Given the description of an element on the screen output the (x, y) to click on. 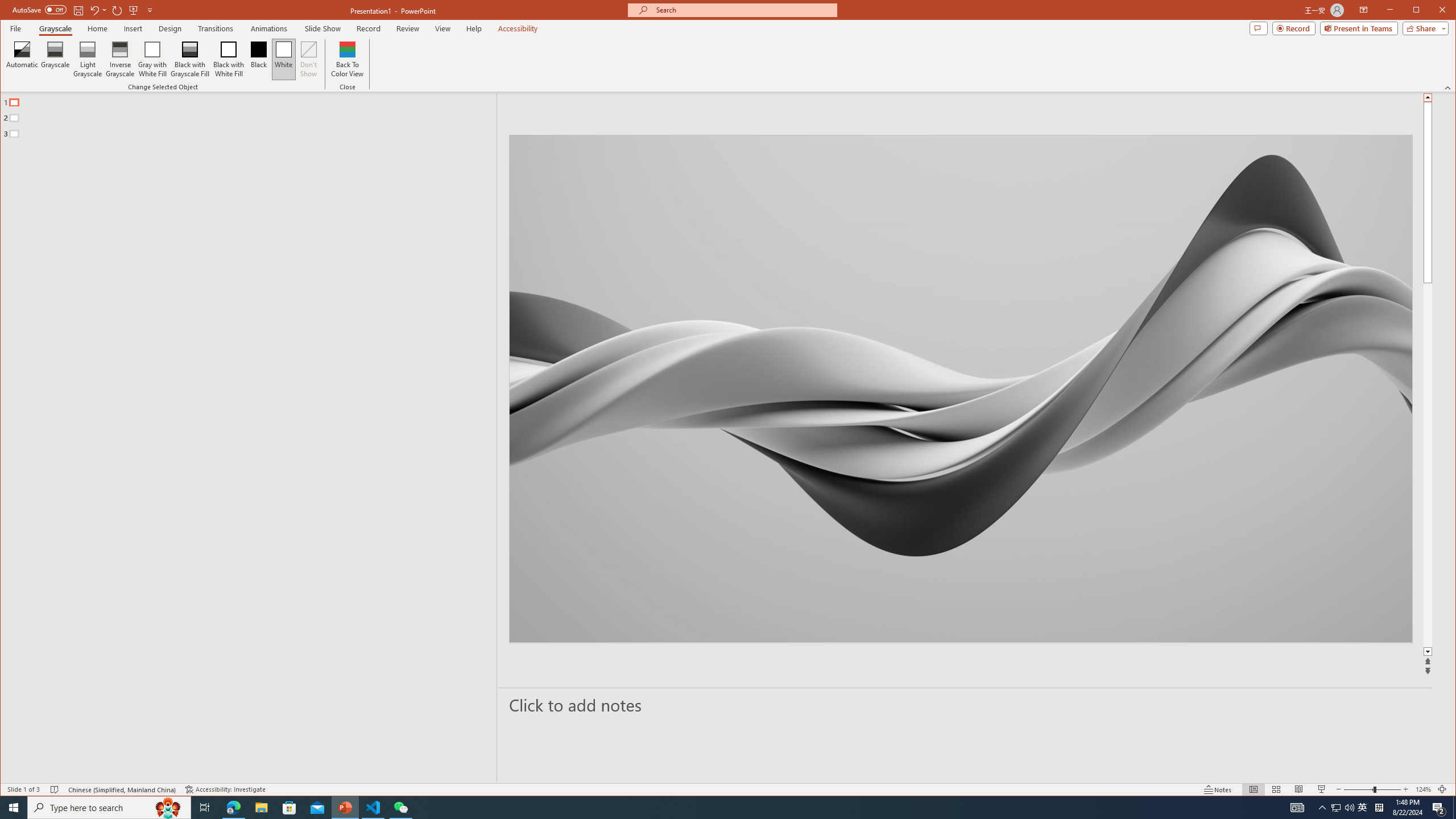
Running applications (707, 807)
Back To Color View (347, 59)
Zoom (1371, 789)
Black (258, 59)
User Promoted Notification Area (1342, 807)
Customize Quick Access Toolbar (150, 9)
Design (1362, 807)
Insert (170, 28)
Quick Access Toolbar (133, 28)
Start (83, 9)
Microsoft Store (13, 807)
Outline (289, 807)
Line down (252, 115)
